Given the description of an element on the screen output the (x, y) to click on. 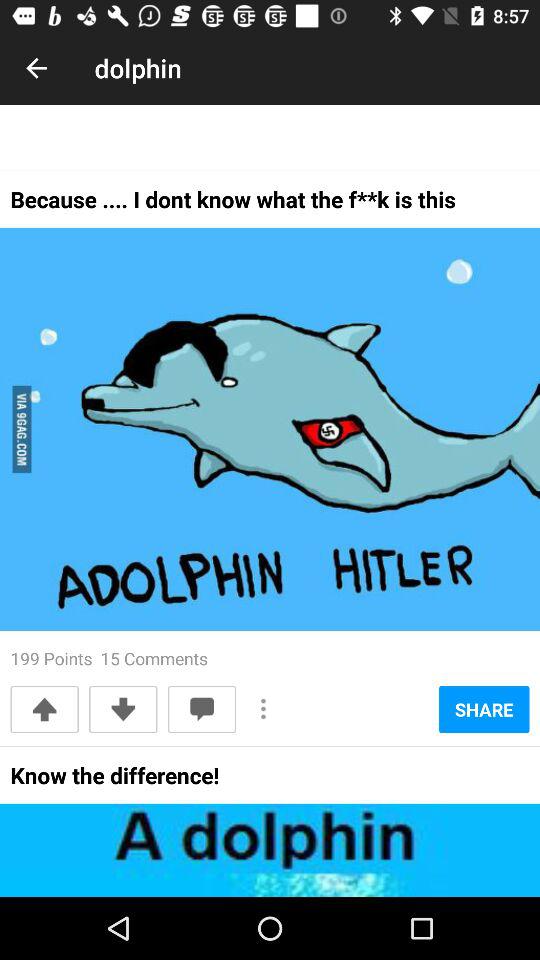
press item to the left of dolphin (36, 68)
